Given the description of an element on the screen output the (x, y) to click on. 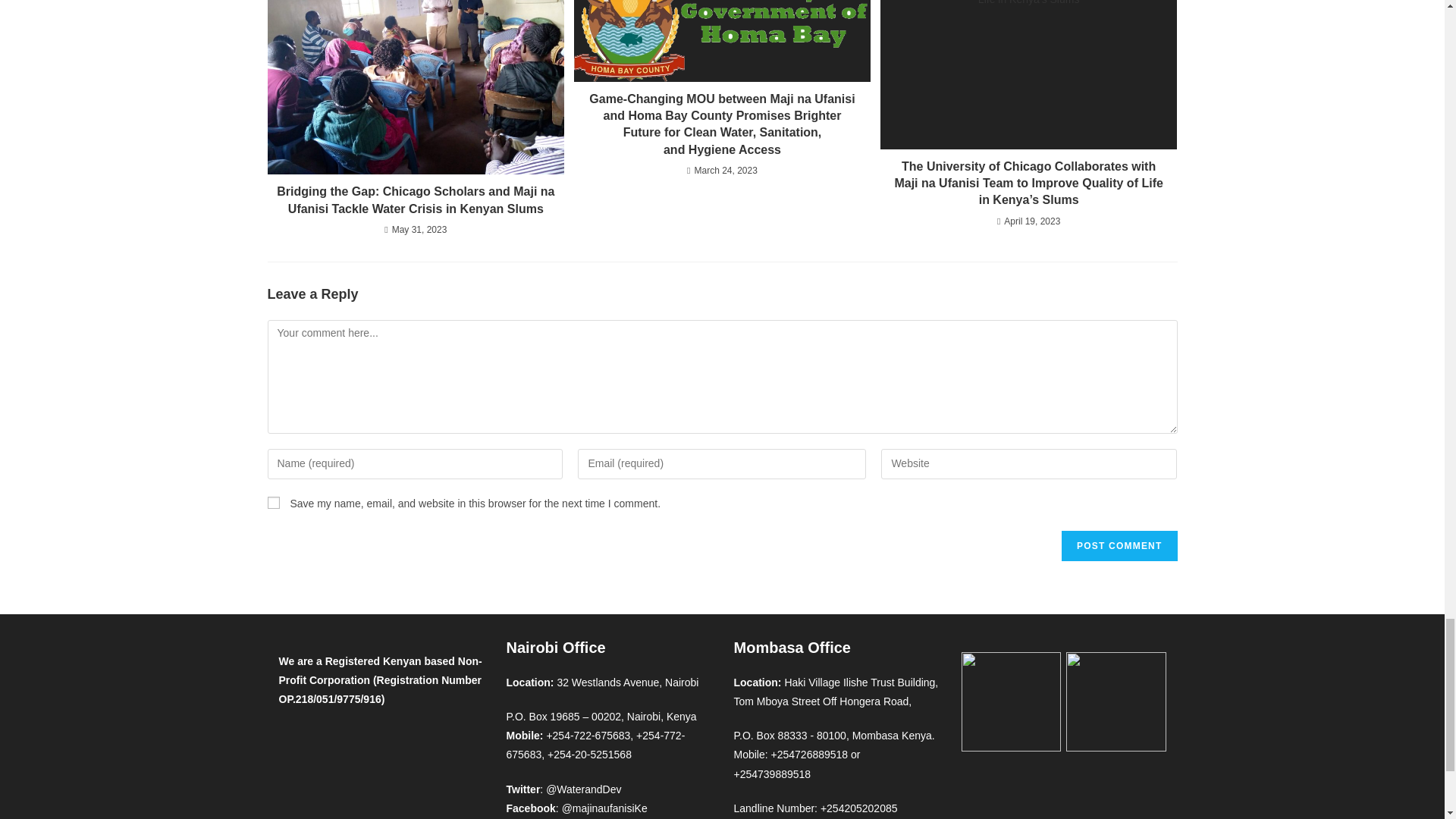
Post Comment (1118, 545)
yes (272, 502)
